Given the description of an element on the screen output the (x, y) to click on. 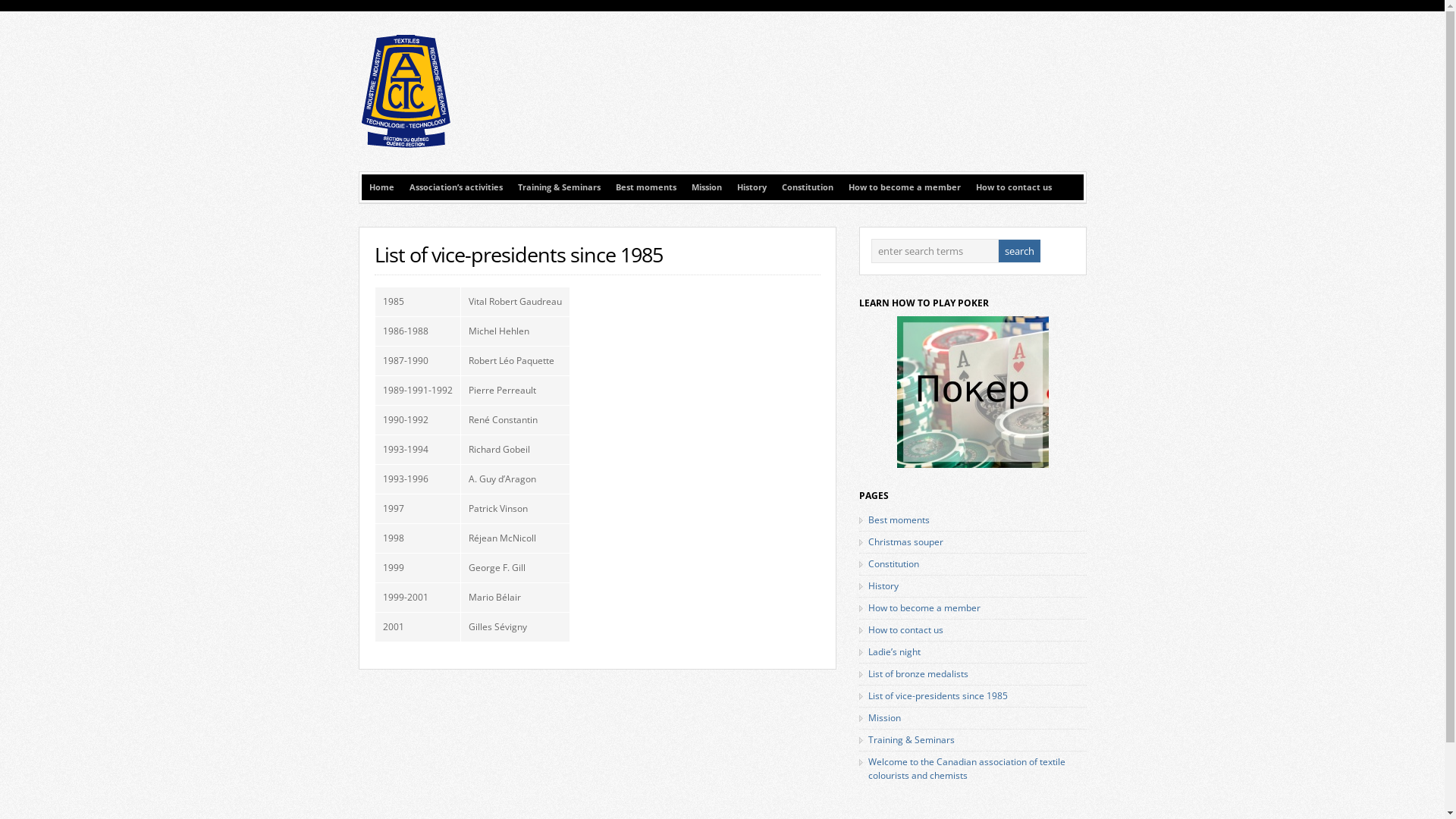
Training & Seminars Element type: text (558, 187)
List of bronze medalists Element type: text (917, 673)
Best moments Element type: text (897, 519)
List of vice-presidents since 1985 Element type: text (937, 695)
Mission Element type: text (706, 187)
How to contact us Element type: text (904, 629)
search Element type: text (1018, 250)
Mission Element type: text (883, 717)
How to become a member Element type: text (903, 187)
History Element type: text (751, 187)
Canadian Association of Textile Colourist and Chemist Element type: hover (403, 144)
Training & Seminars Element type: text (910, 739)
How to become a member Element type: text (923, 607)
Home Element type: text (380, 187)
How to contact us Element type: text (1012, 187)
Best moments Element type: text (646, 187)
Constitution Element type: text (892, 563)
History Element type: text (882, 585)
Christmas souper Element type: text (904, 541)
Constitution Element type: text (806, 187)
